Given the description of an element on the screen output the (x, y) to click on. 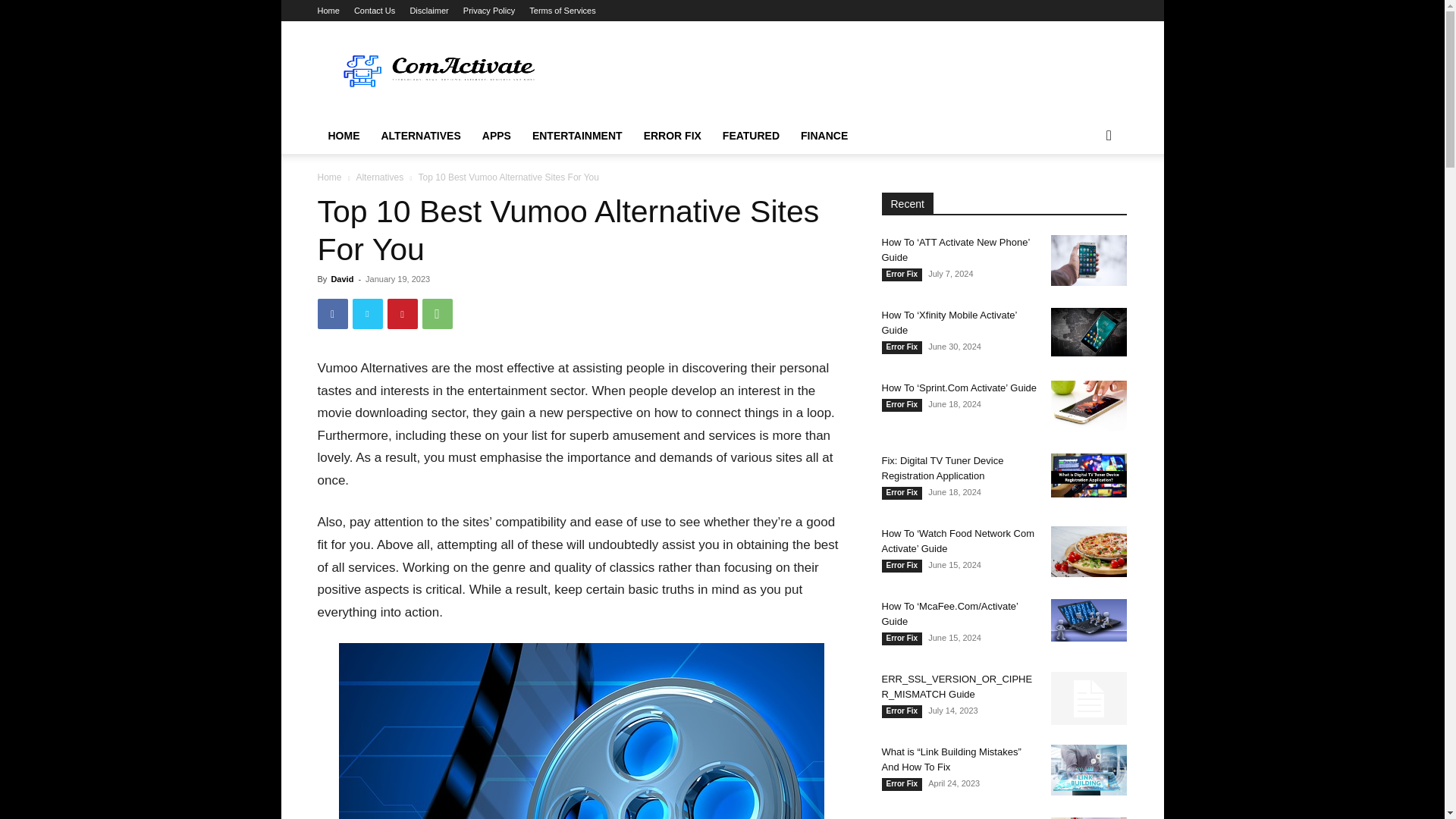
Search (1085, 196)
Pinterest (401, 313)
ENTERTAINMENT (577, 135)
FINANCE (824, 135)
David (341, 278)
APPS (496, 135)
FEATURED (750, 135)
Twitter (366, 313)
Privacy Policy (489, 10)
Contact Us (373, 10)
Home (328, 10)
ERROR FIX (672, 135)
Terms of Services (562, 10)
Alternatives (379, 176)
Disclaimer (428, 10)
